Given the description of an element on the screen output the (x, y) to click on. 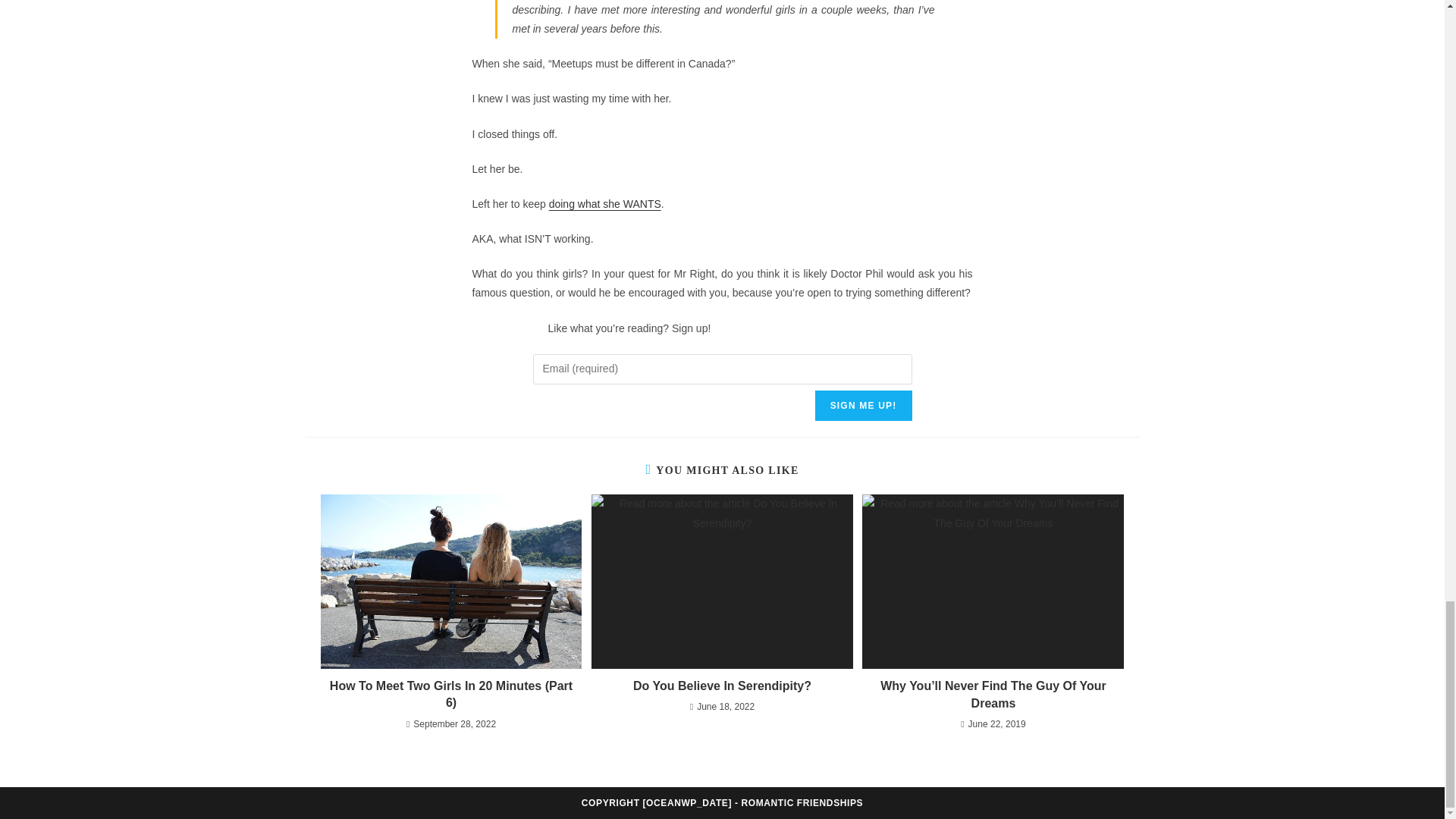
Do You Believe In Serendipity? (721, 686)
Sign me up! (863, 405)
doing what she WANTS (604, 203)
Sign me up! (863, 405)
